Given the description of an element on the screen output the (x, y) to click on. 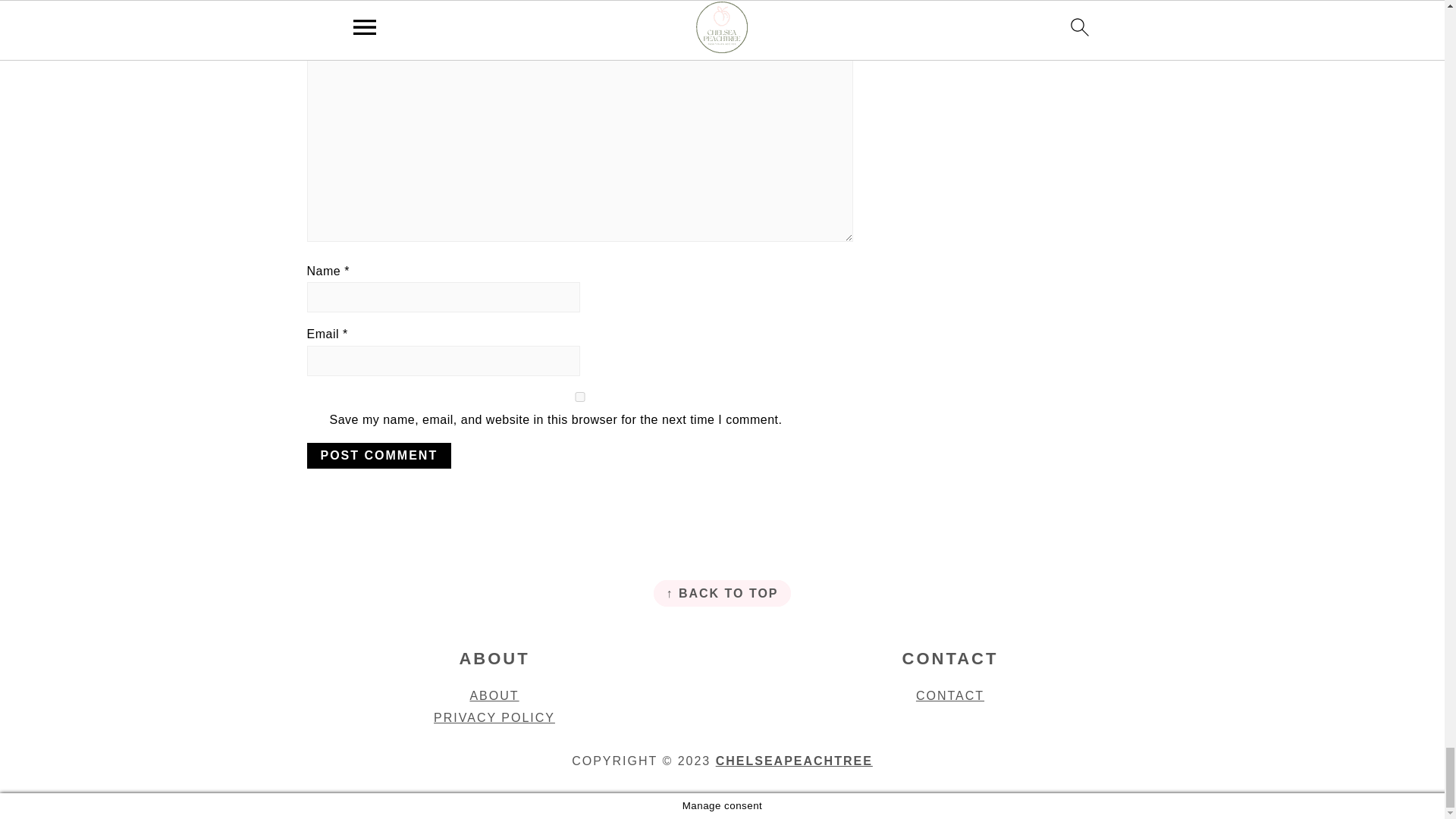
Post Comment (378, 455)
yes (578, 397)
